Given the description of an element on the screen output the (x, y) to click on. 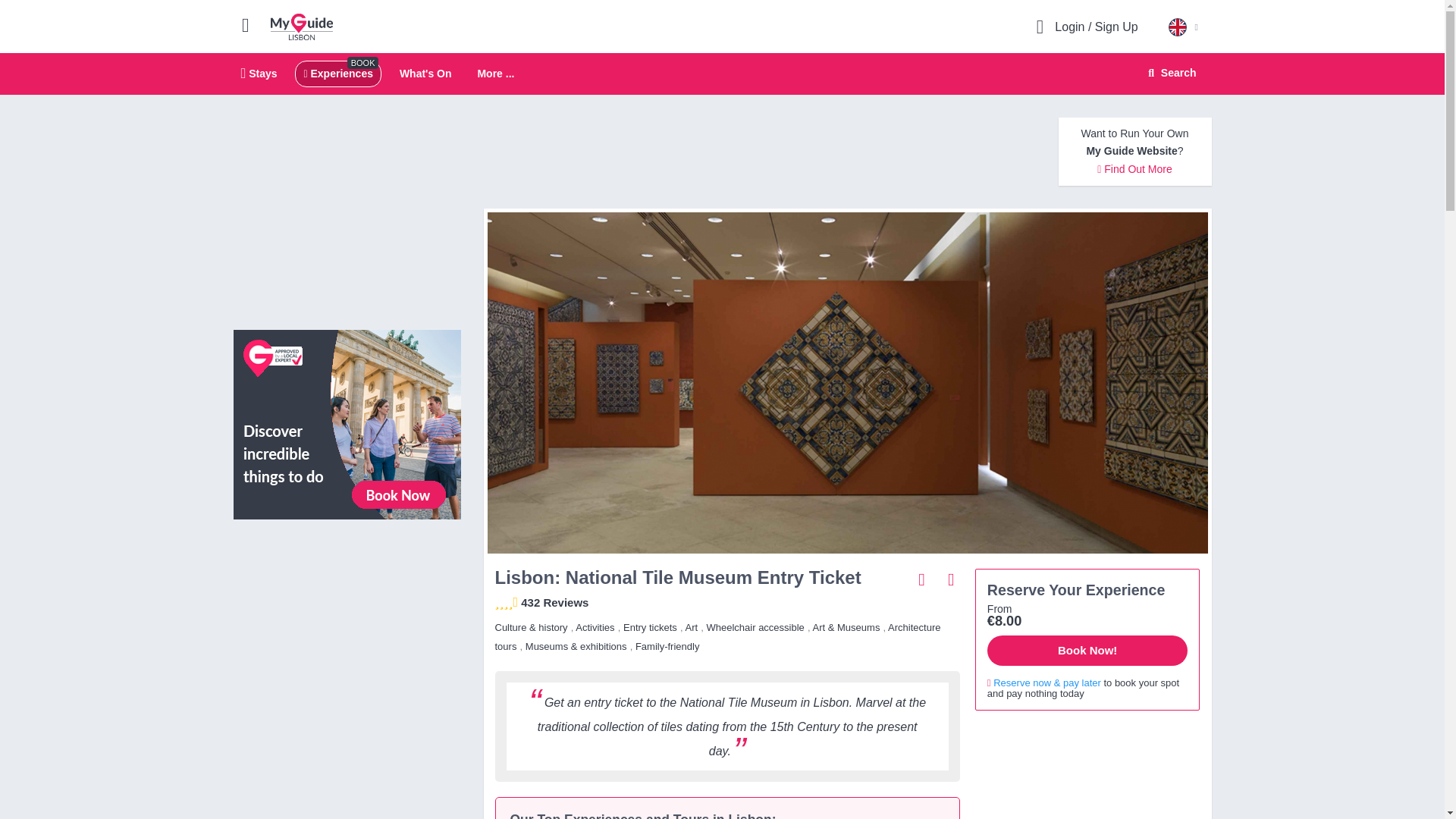
GetYourGuide Widget (1087, 770)
Lisbon: National Tile Museum Entry Ticket (721, 74)
My Guide Lisbon (259, 73)
Search (301, 25)
More ... (1169, 72)
What's On (495, 73)
GetYourGuide Widget (424, 73)
Experiences (346, 599)
